Given the description of an element on the screen output the (x, y) to click on. 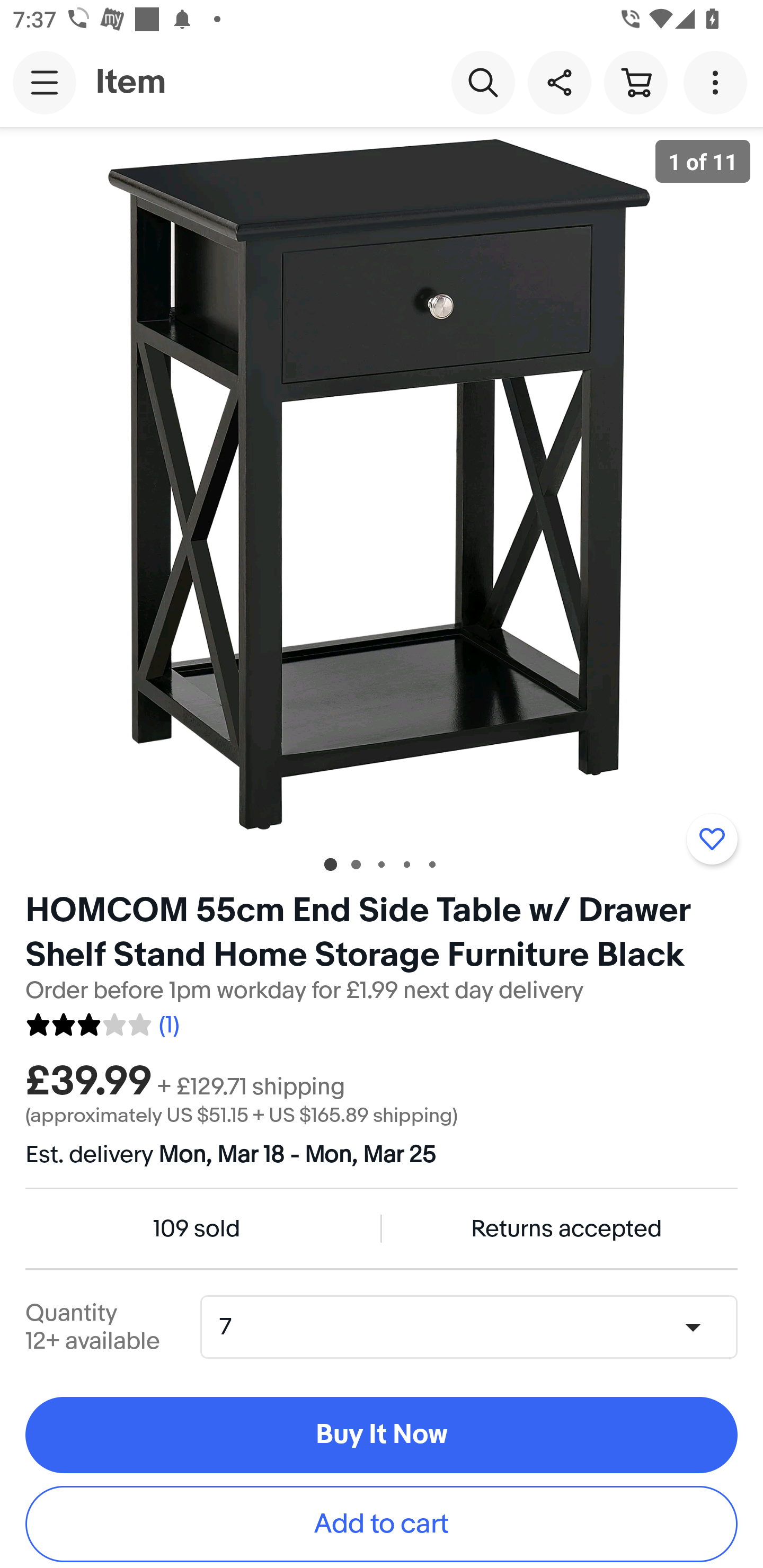
Main navigation, open (44, 82)
Search (482, 81)
Share this item (559, 81)
Cart button shopping cart (635, 81)
More options (718, 81)
Item image 1 of 11 (381, 482)
Add to watchlist (711, 838)
1 review. Average rating 3.0 out of five 6.0 (1) (102, 1021)
Quantity,7,12+ available 7 (474, 1326)
Buy It Now (381, 1435)
Add to cart (381, 1523)
